Given the description of an element on the screen output the (x, y) to click on. 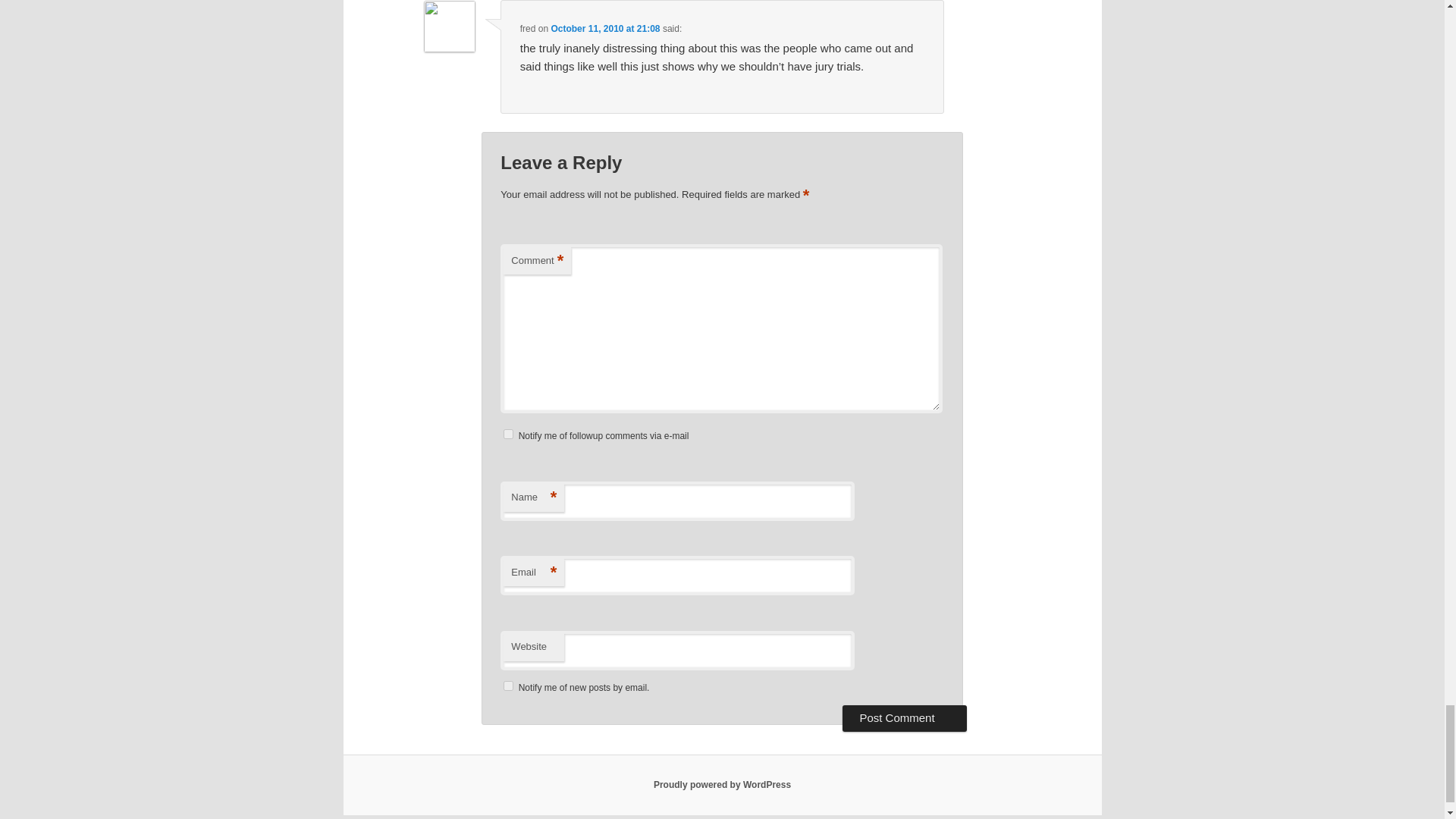
Post Comment (904, 718)
subscribe (508, 433)
October 11, 2010 at 21:08 (604, 28)
Proudly powered by WordPress (721, 784)
Semantic Personal Publishing Platform (721, 784)
Post Comment (904, 718)
subscribe (508, 685)
